Given the description of an element on the screen output the (x, y) to click on. 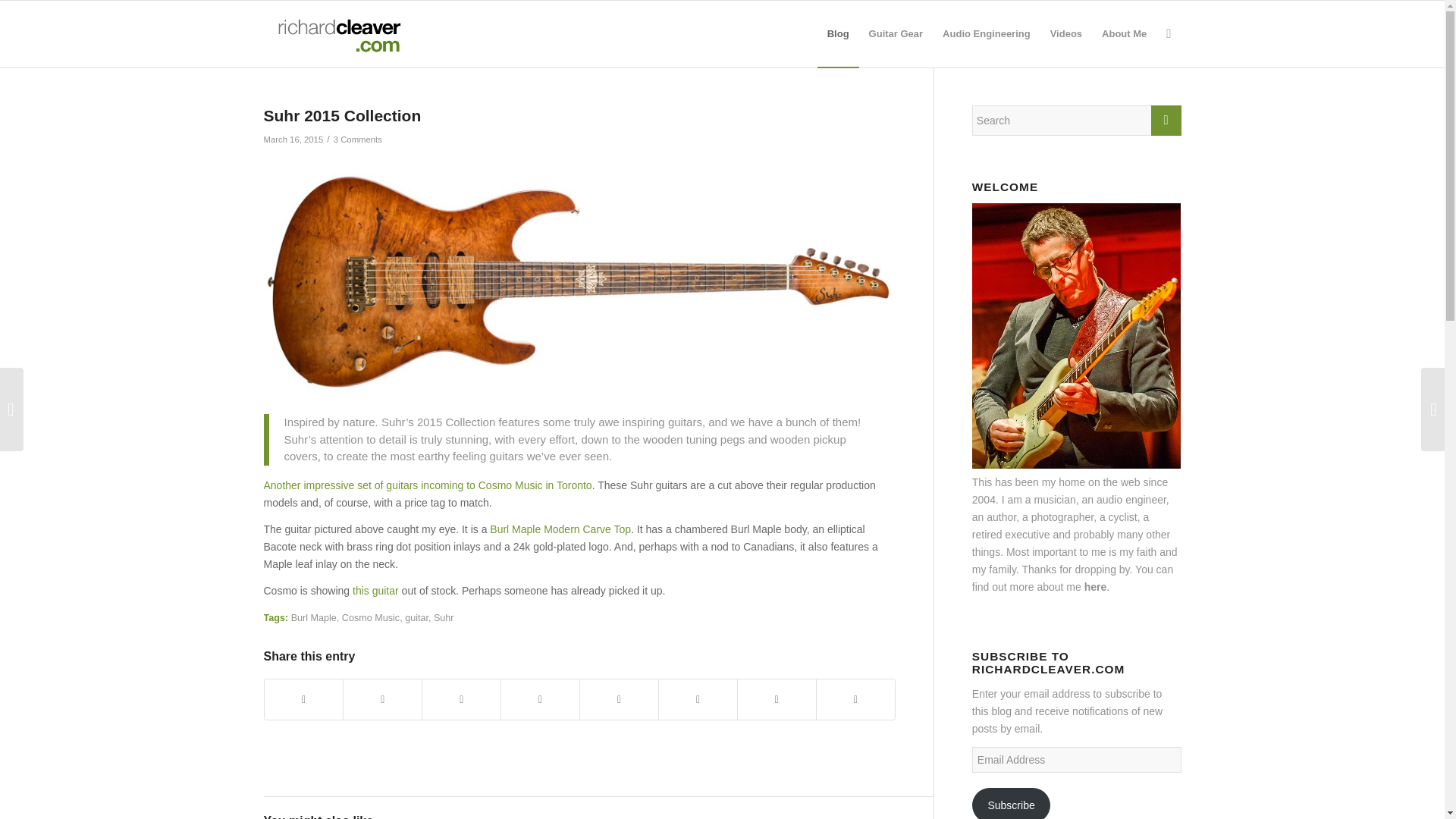
Cosmo Music (370, 617)
Blog (837, 33)
Burl Maple (313, 617)
Videos (1066, 33)
3 Comments (357, 139)
Audio Engineering (987, 33)
rcdotcomlogo (336, 33)
guitar (416, 617)
Suhr (443, 617)
About Me (1124, 33)
Guitar Gear (896, 33)
this guitar (375, 590)
Burl Maple Modern Carve Top (559, 529)
